Given the description of an element on the screen output the (x, y) to click on. 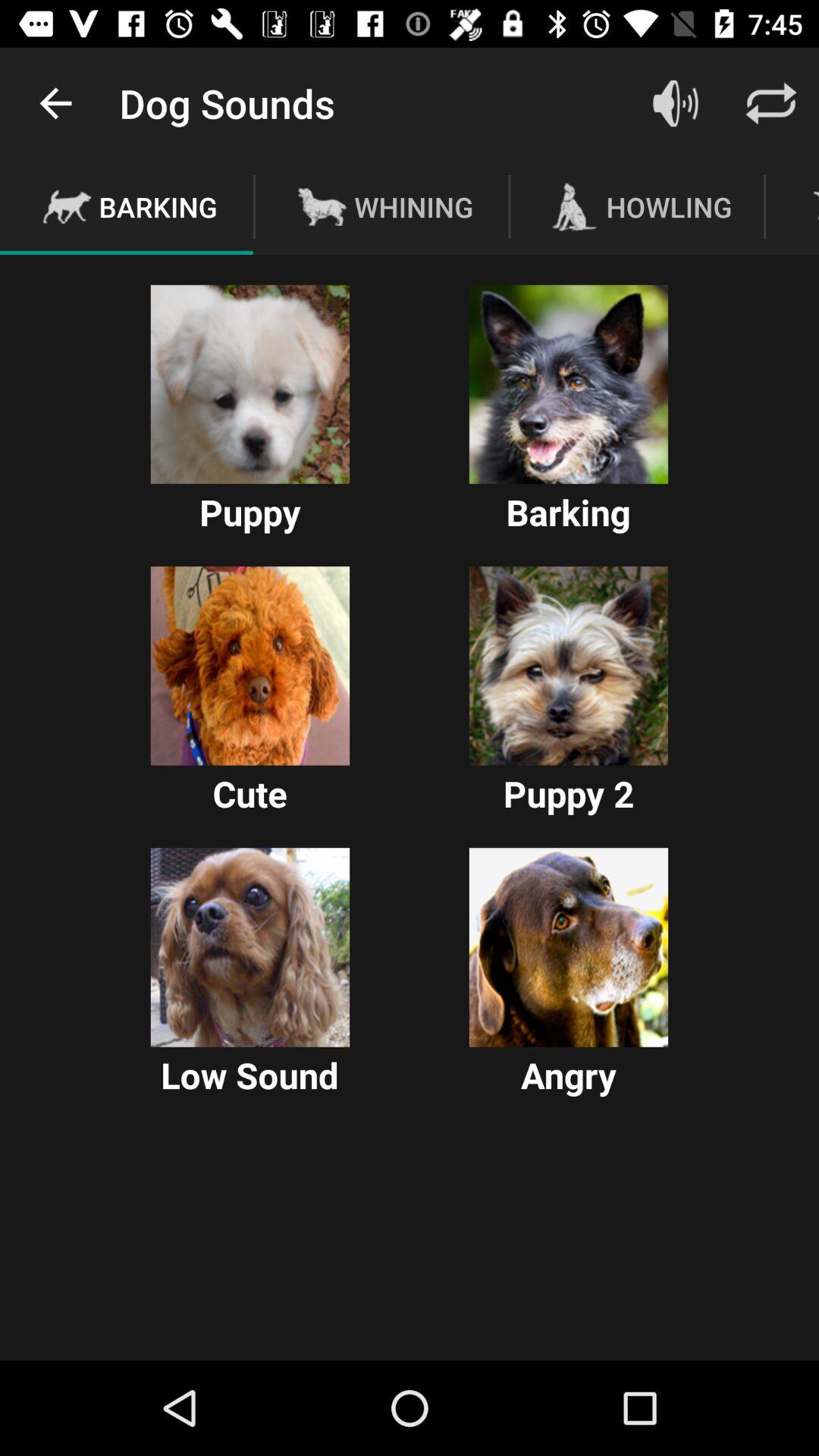
plays the sound of a puppy barking (249, 384)
